Given the description of an element on the screen output the (x, y) to click on. 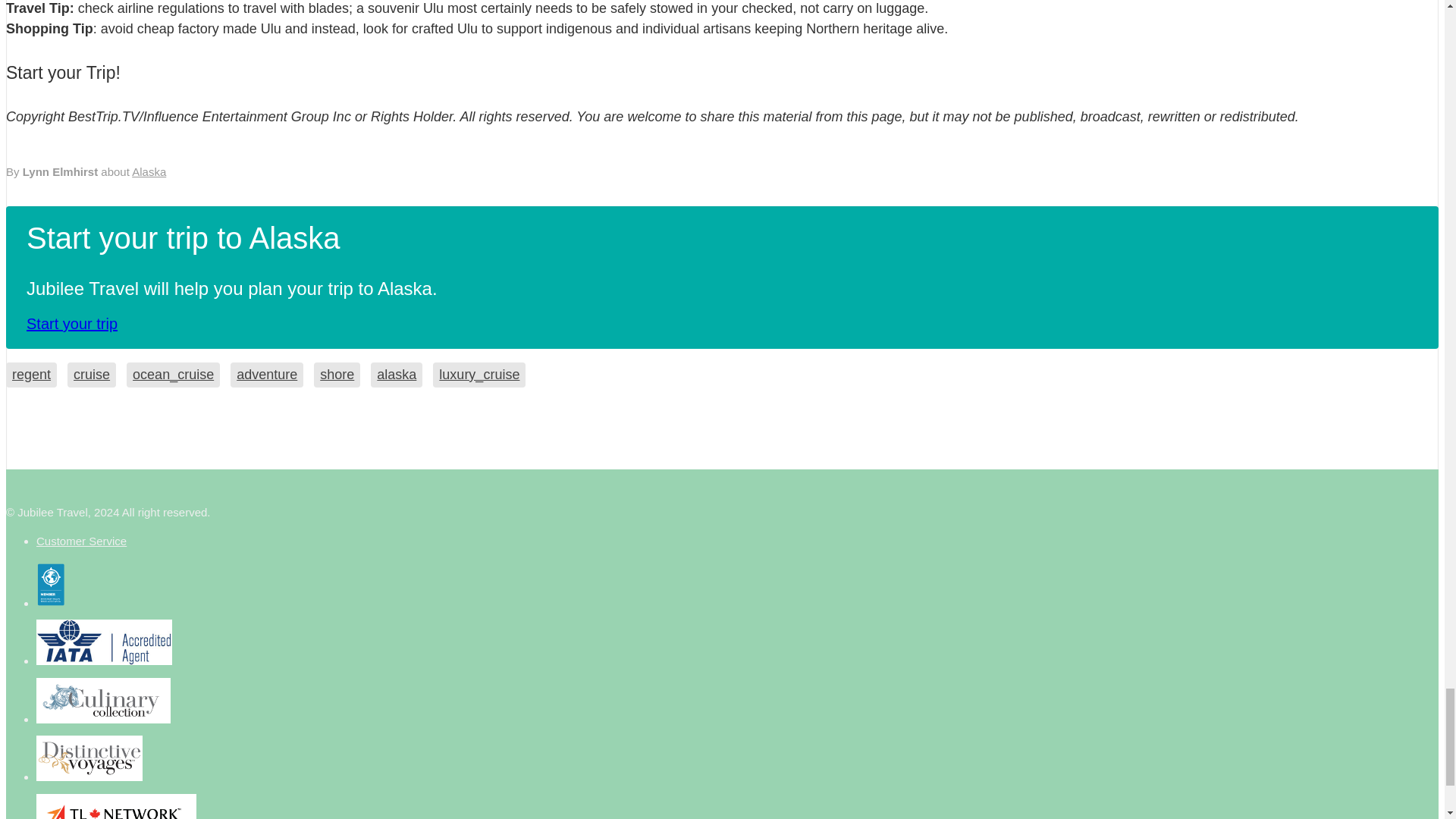
IATA (89, 758)
TIES Member (116, 806)
Alaska (148, 171)
regent (30, 374)
adventure (266, 374)
cruise (91, 374)
shore (336, 374)
Start your trip (71, 323)
ATTA Member (103, 700)
IATA (103, 642)
